Given the description of an element on the screen output the (x, y) to click on. 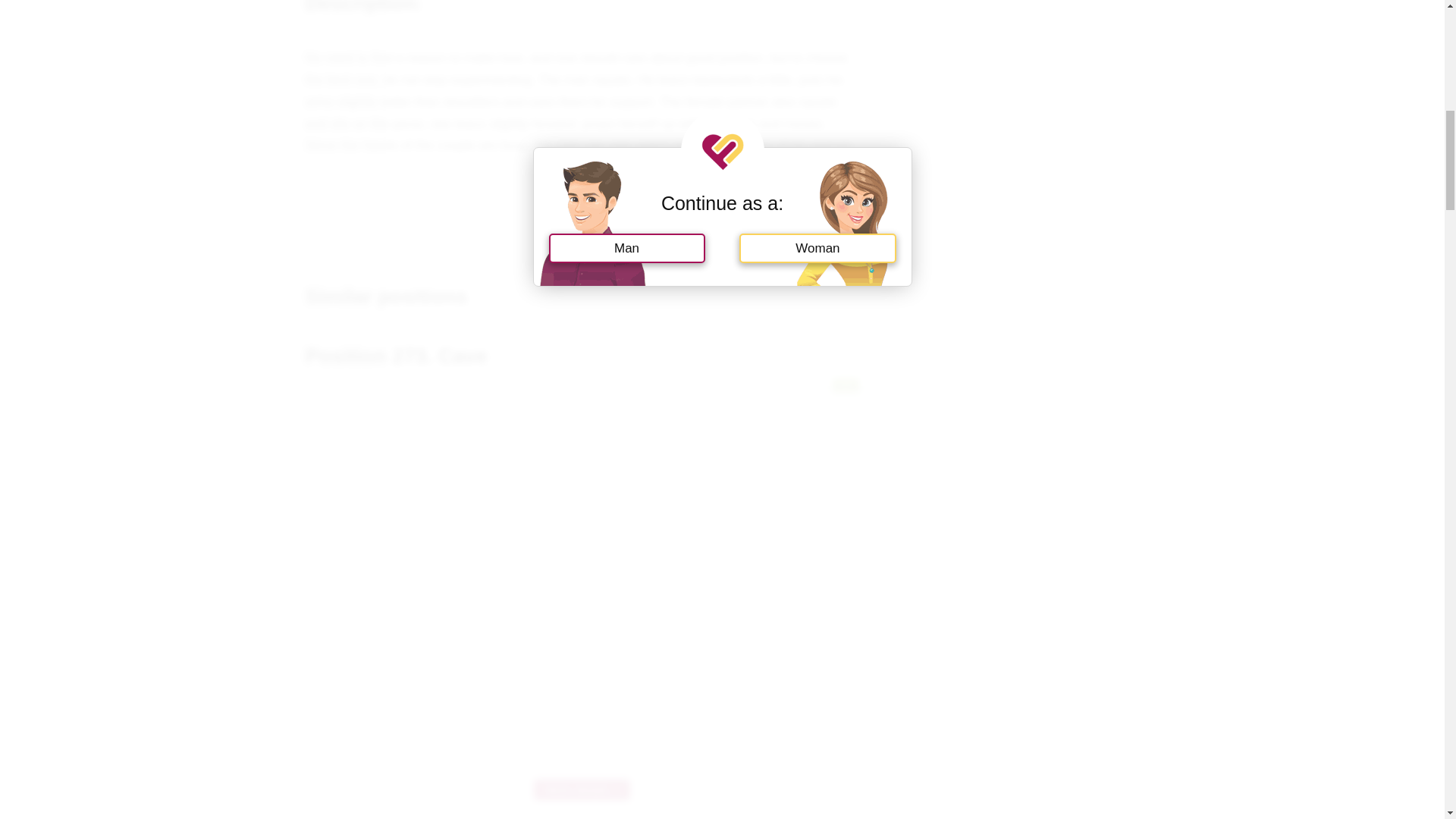
Position 273. Cave (395, 355)
273. Cave (581, 789)
